Given the description of an element on the screen output the (x, y) to click on. 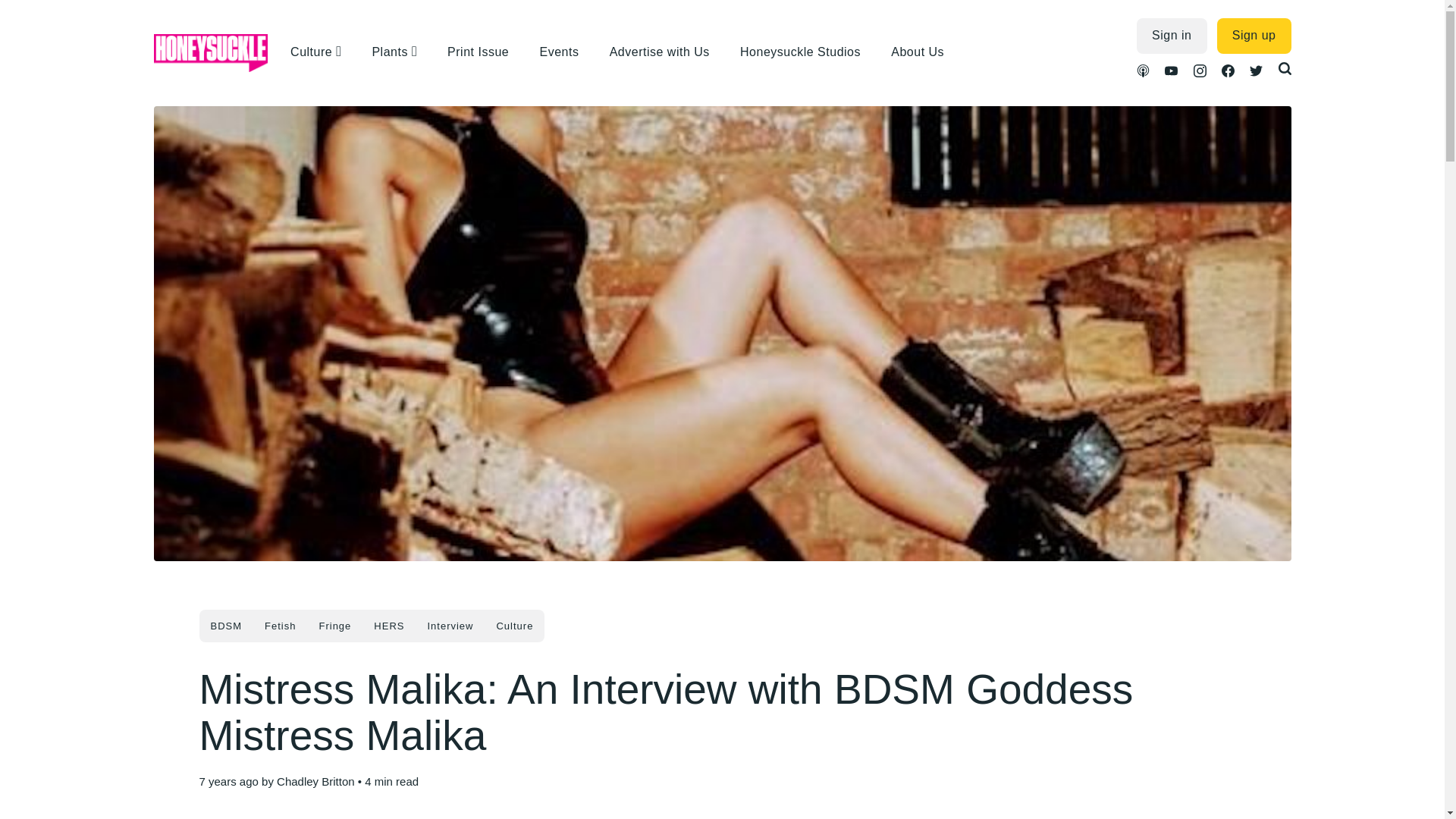
Advertise with Us (667, 52)
Culture (312, 52)
Fringe (334, 625)
Culture (514, 625)
Honeysuckle Studios (807, 52)
Plants (390, 52)
HERS (388, 625)
Interview (449, 625)
Print Issue (485, 52)
Events (566, 52)
Sign in (1172, 36)
Chadley Britton (315, 780)
About Us (925, 52)
Sign up (1254, 36)
BDSM (225, 625)
